Given the description of an element on the screen output the (x, y) to click on. 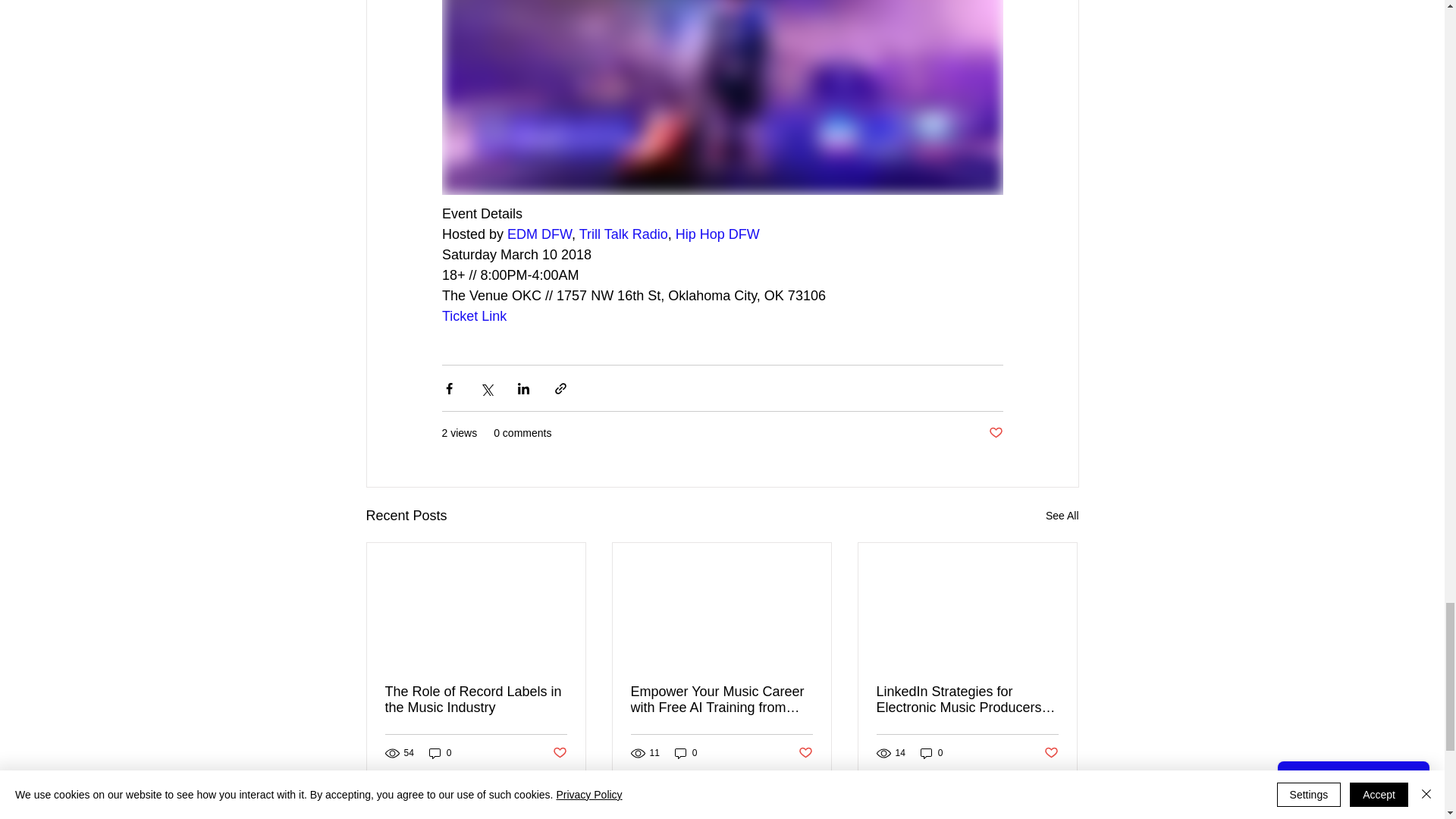
EDM DFW (539, 233)
Ticket Link (473, 315)
The Role of Record Labels in the Music Industry (476, 699)
Post not marked as liked (995, 433)
Post not marked as liked (558, 753)
Hip Hop DFW (716, 233)
Trill Talk Radio (622, 233)
See All (1061, 516)
0 (440, 753)
